Given the description of an element on the screen output the (x, y) to click on. 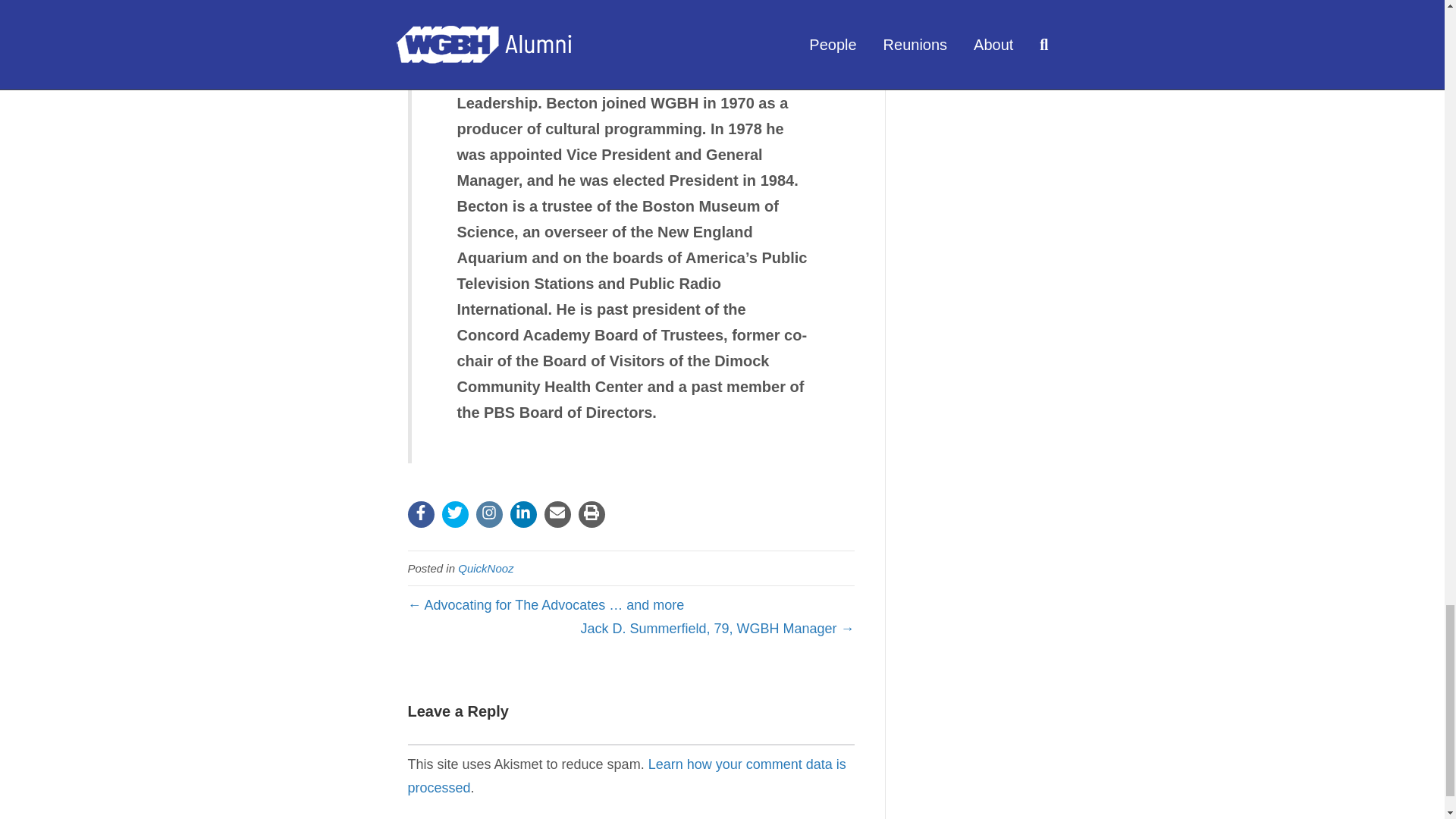
Learn how your comment data is processed (626, 775)
QuickNooz (485, 567)
